Given the description of an element on the screen output the (x, y) to click on. 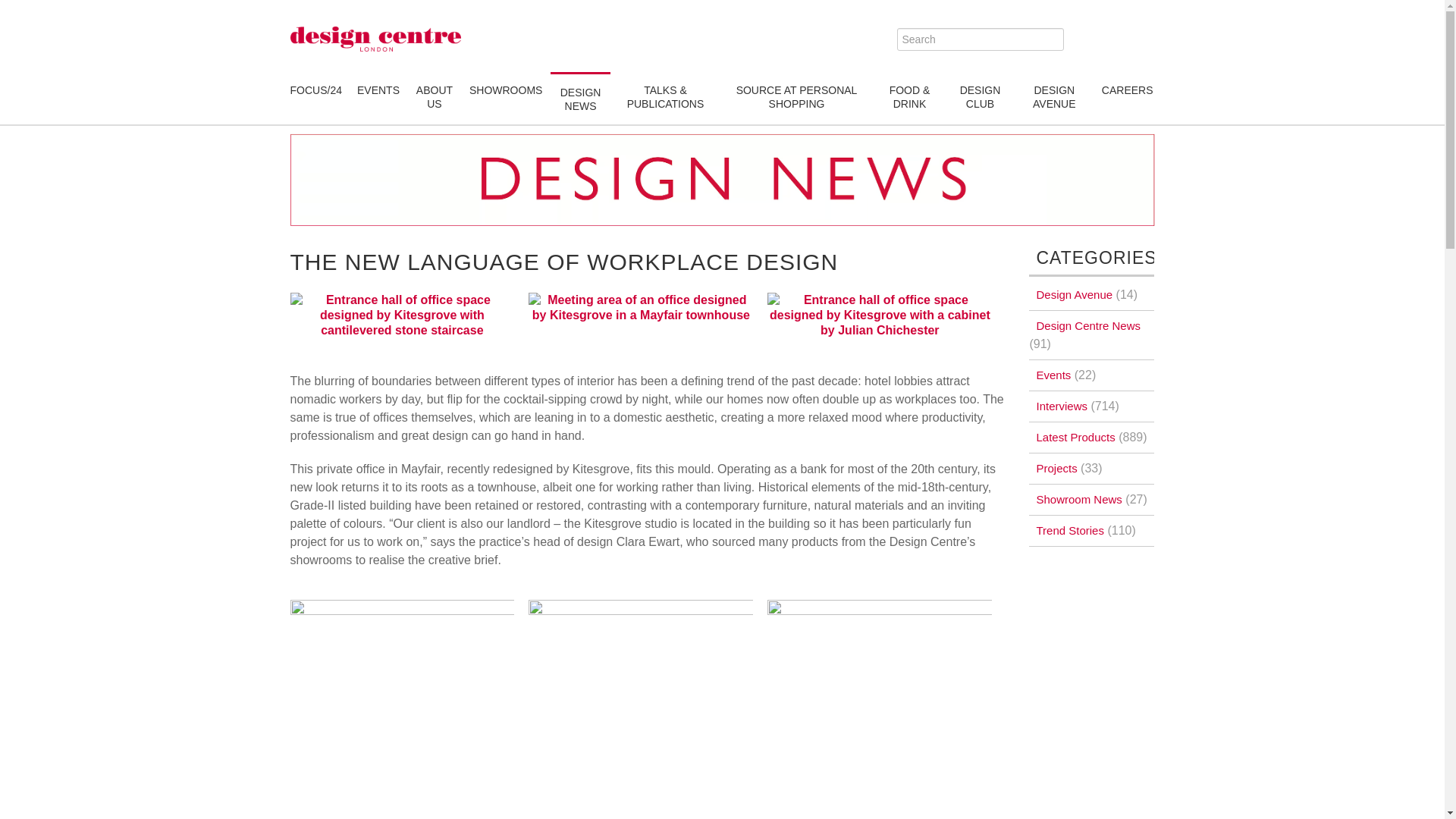
DCCH logo (374, 38)
About Us (434, 97)
Events (378, 90)
